Given the description of an element on the screen output the (x, y) to click on. 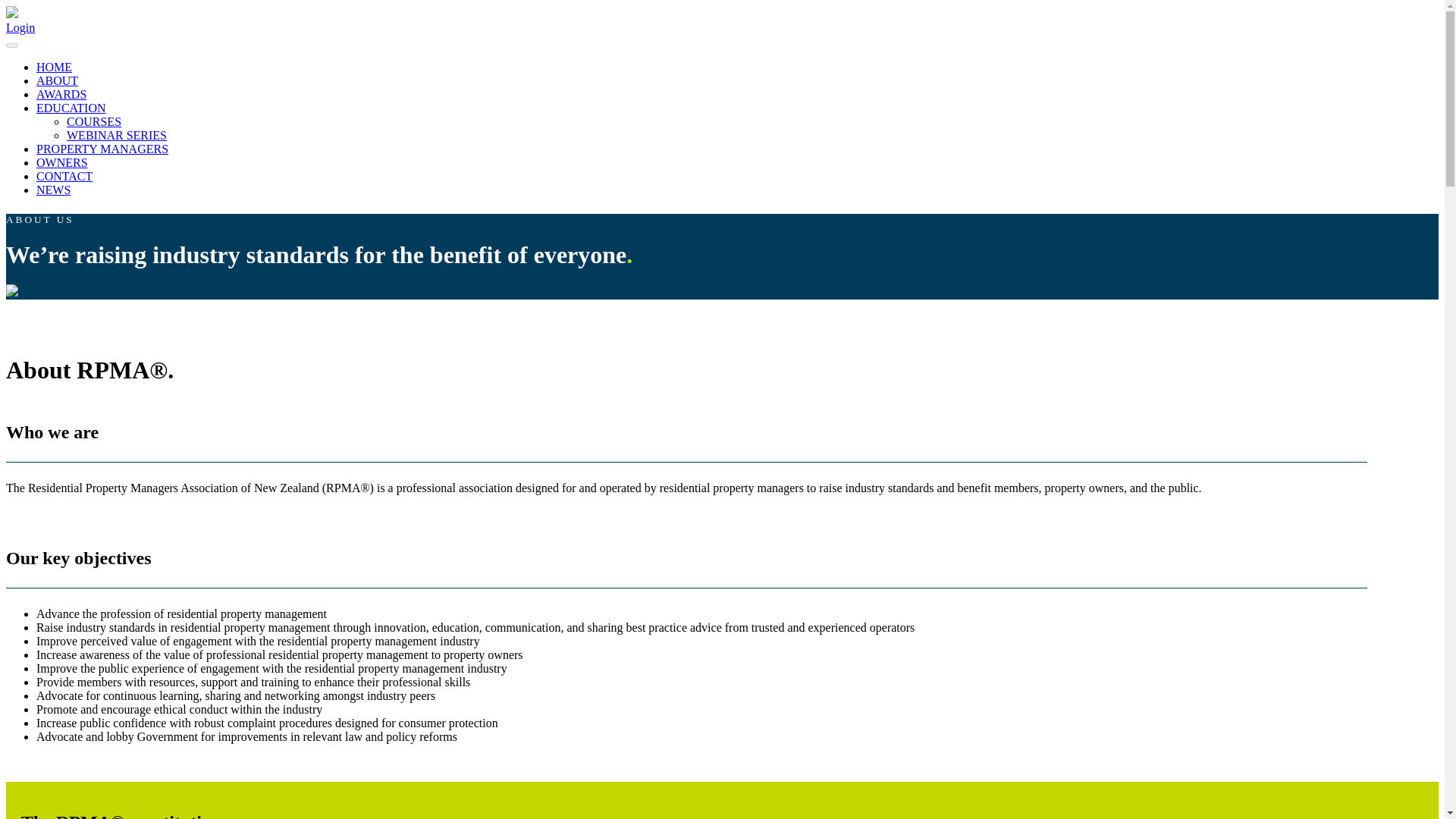
AWARDS (60, 93)
EDUCATION (71, 107)
WEBINAR SERIES (116, 134)
OWNERS (61, 162)
PROPERTY MANAGERS (102, 148)
CONTACT (64, 175)
COURSES (93, 121)
HOME (53, 66)
NEWS (52, 189)
ABOUT (57, 80)
